Given the description of an element on the screen output the (x, y) to click on. 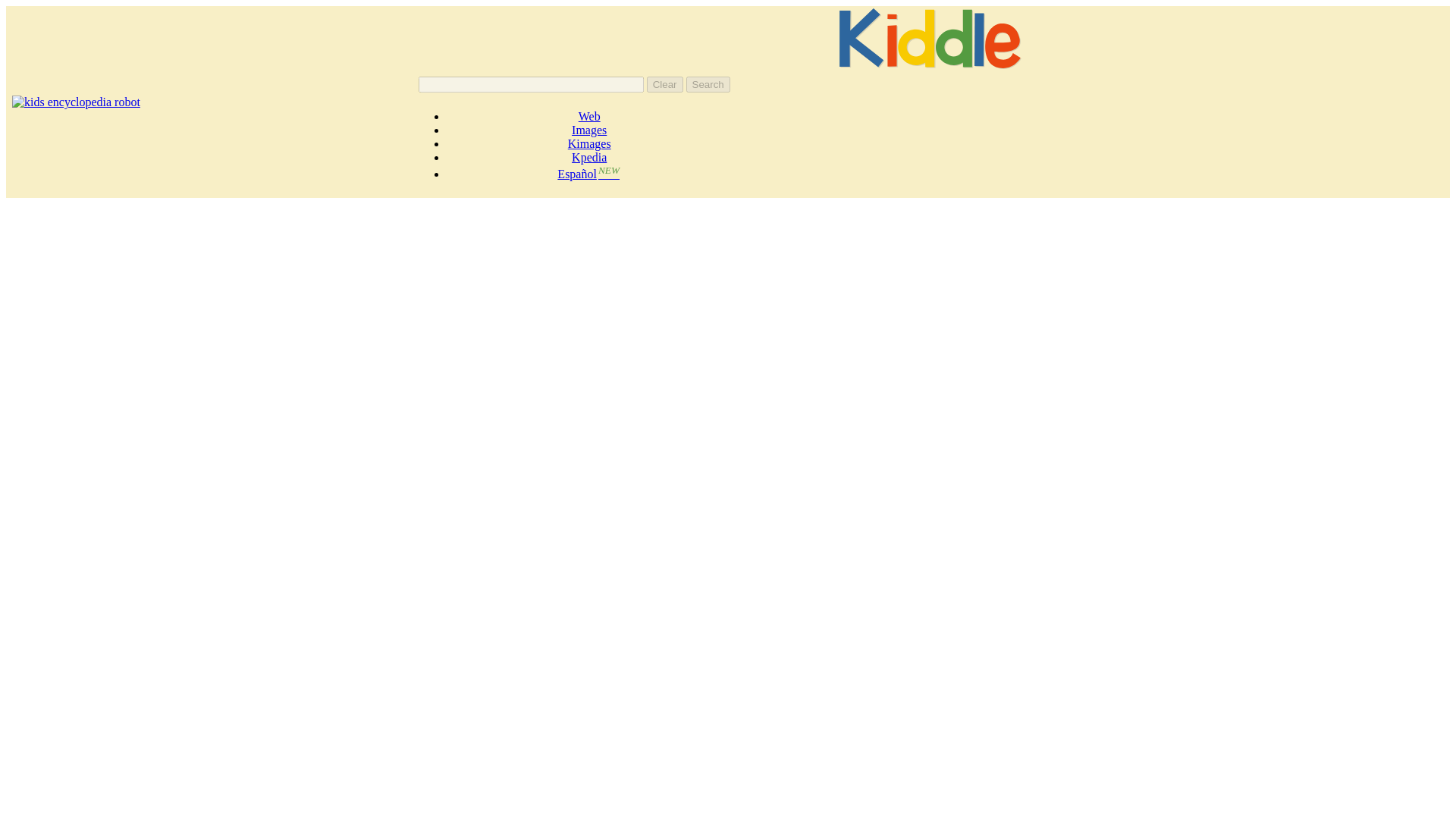
Kimages (589, 143)
Search (707, 84)
Clear (664, 84)
Web (588, 115)
Kpedia (589, 156)
Images (589, 129)
